Given the description of an element on the screen output the (x, y) to click on. 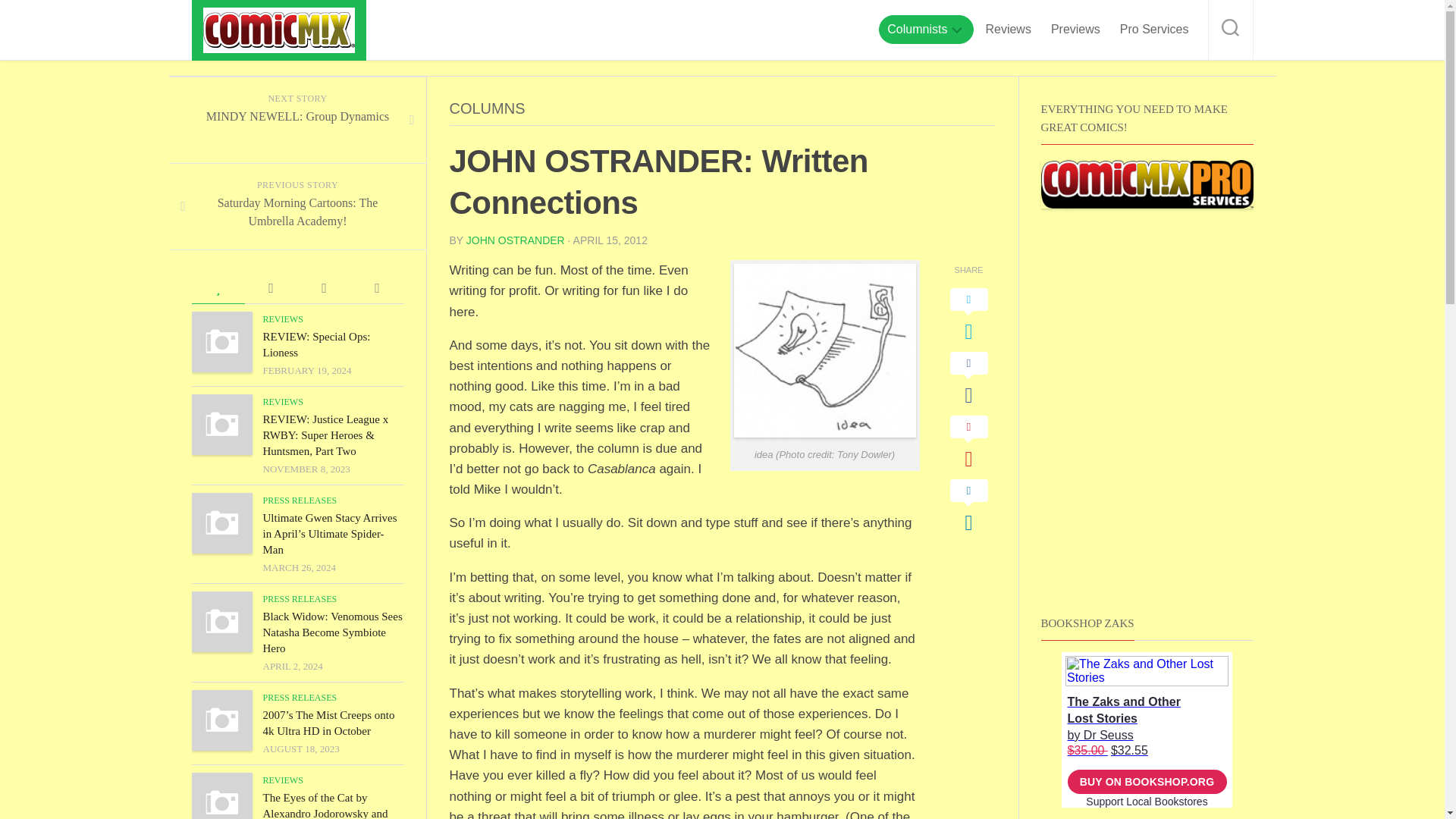
Recent Posts (323, 287)
Tags (376, 287)
COLUMNS (486, 108)
Popular Posts (217, 287)
Pro Services (1154, 29)
Columnists (916, 29)
Recent Comments (270, 287)
Posts by John Ostrander (514, 240)
idea (824, 350)
JOHN OSTRANDER (514, 240)
